Given the description of an element on the screen output the (x, y) to click on. 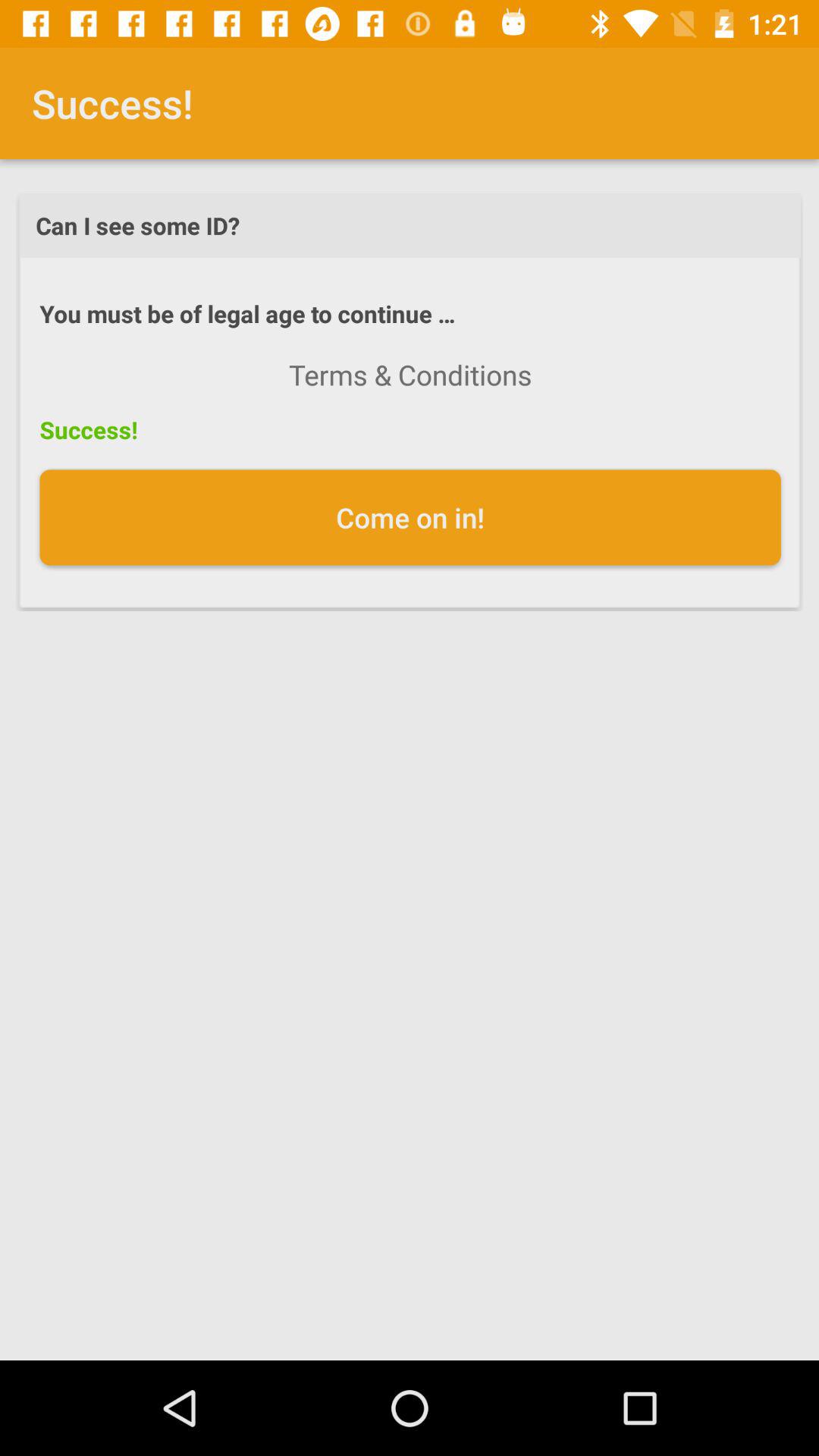
choose terms & conditions item (409, 374)
